Given the description of an element on the screen output the (x, y) to click on. 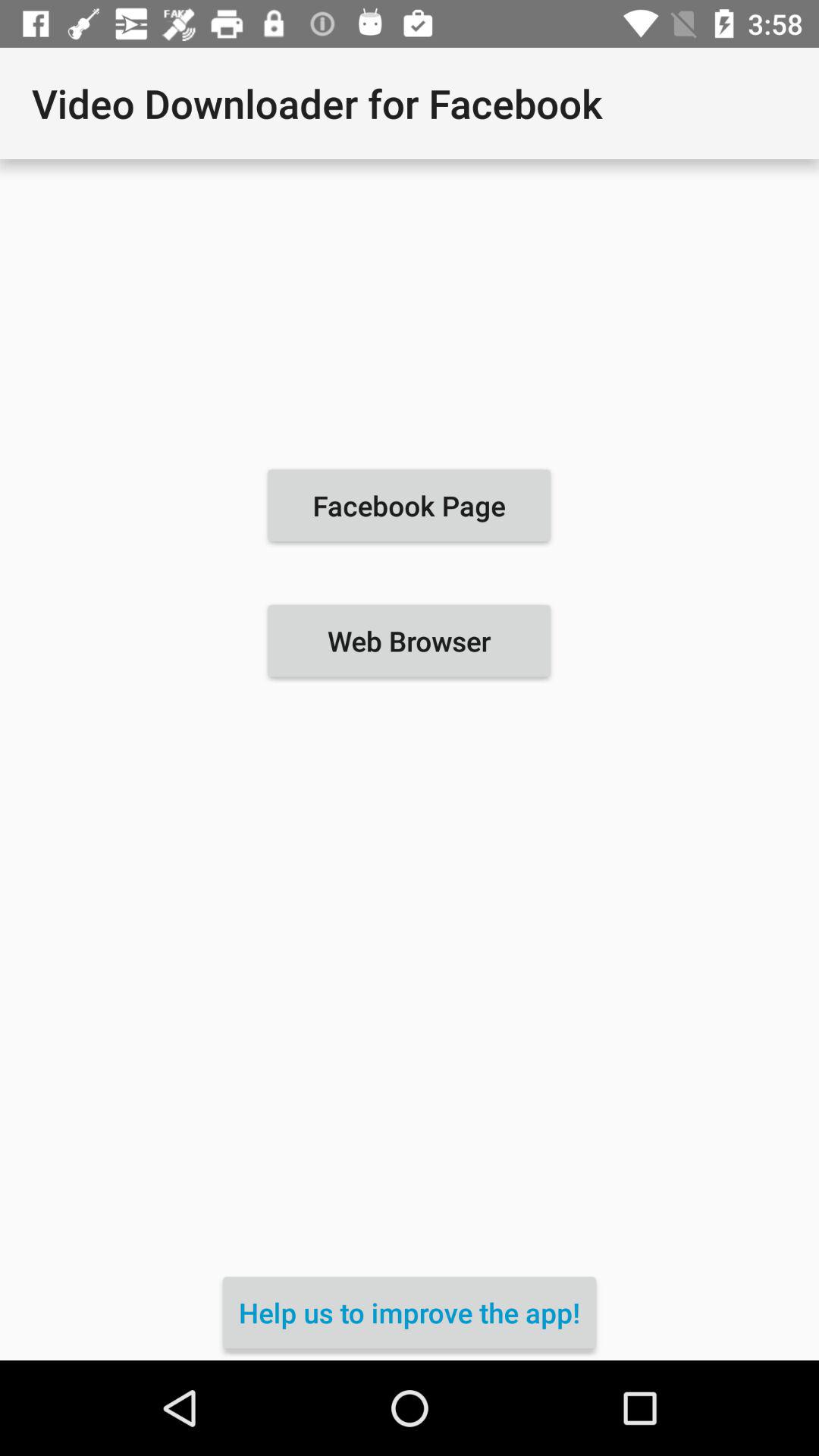
choose the icon below the web browser (409, 1312)
